Given the description of an element on the screen output the (x, y) to click on. 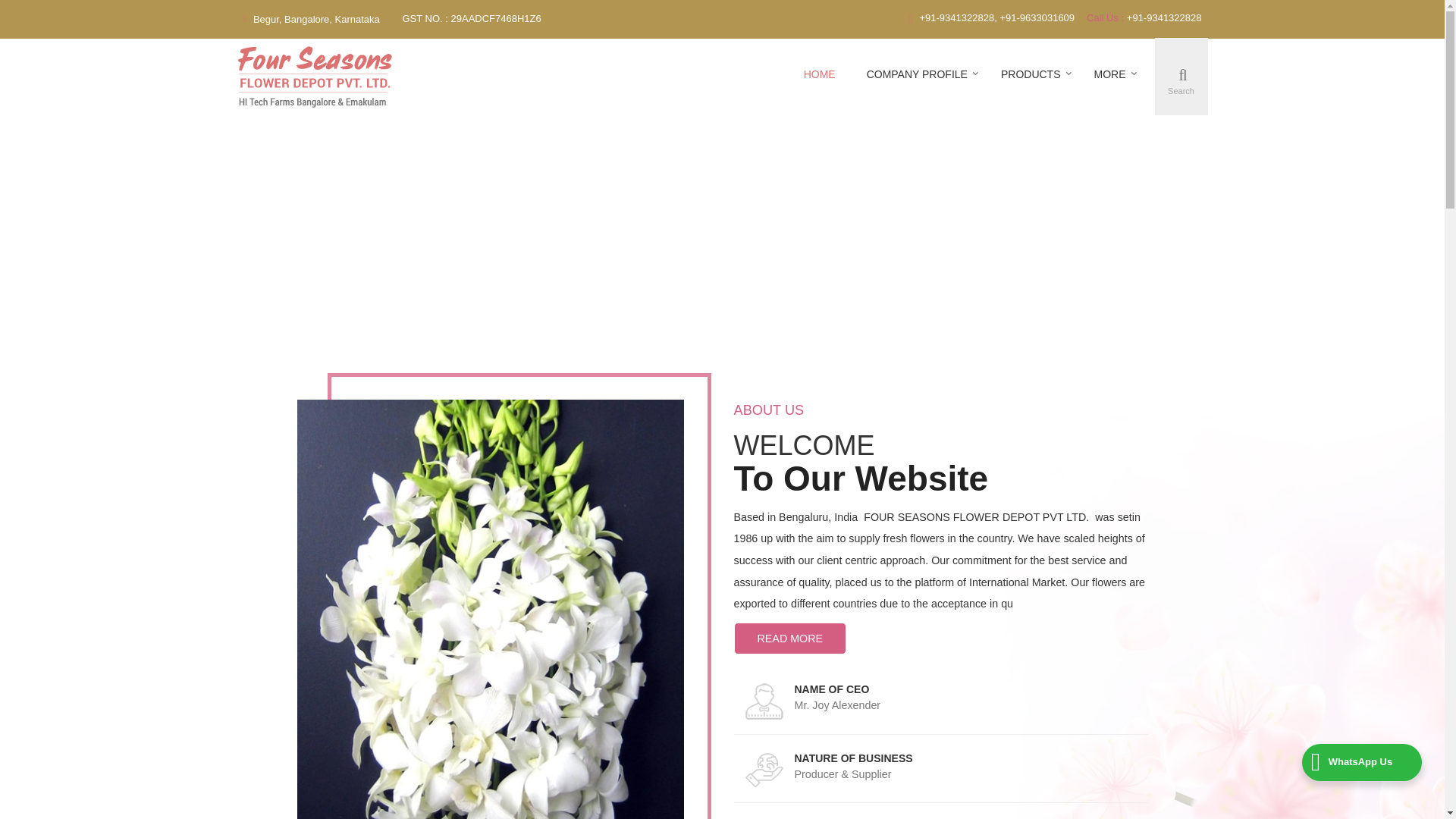
HOME (819, 74)
Home (819, 74)
Products (1031, 74)
READ MORE (790, 638)
COMPANY PROFILE (918, 74)
PRODUCTS (1031, 74)
FOUR SEASONS FLOWER DEPOT PRIVATE LIMITED (313, 76)
MORE (1110, 74)
Company Profile (918, 74)
